Given the description of an element on the screen output the (x, y) to click on. 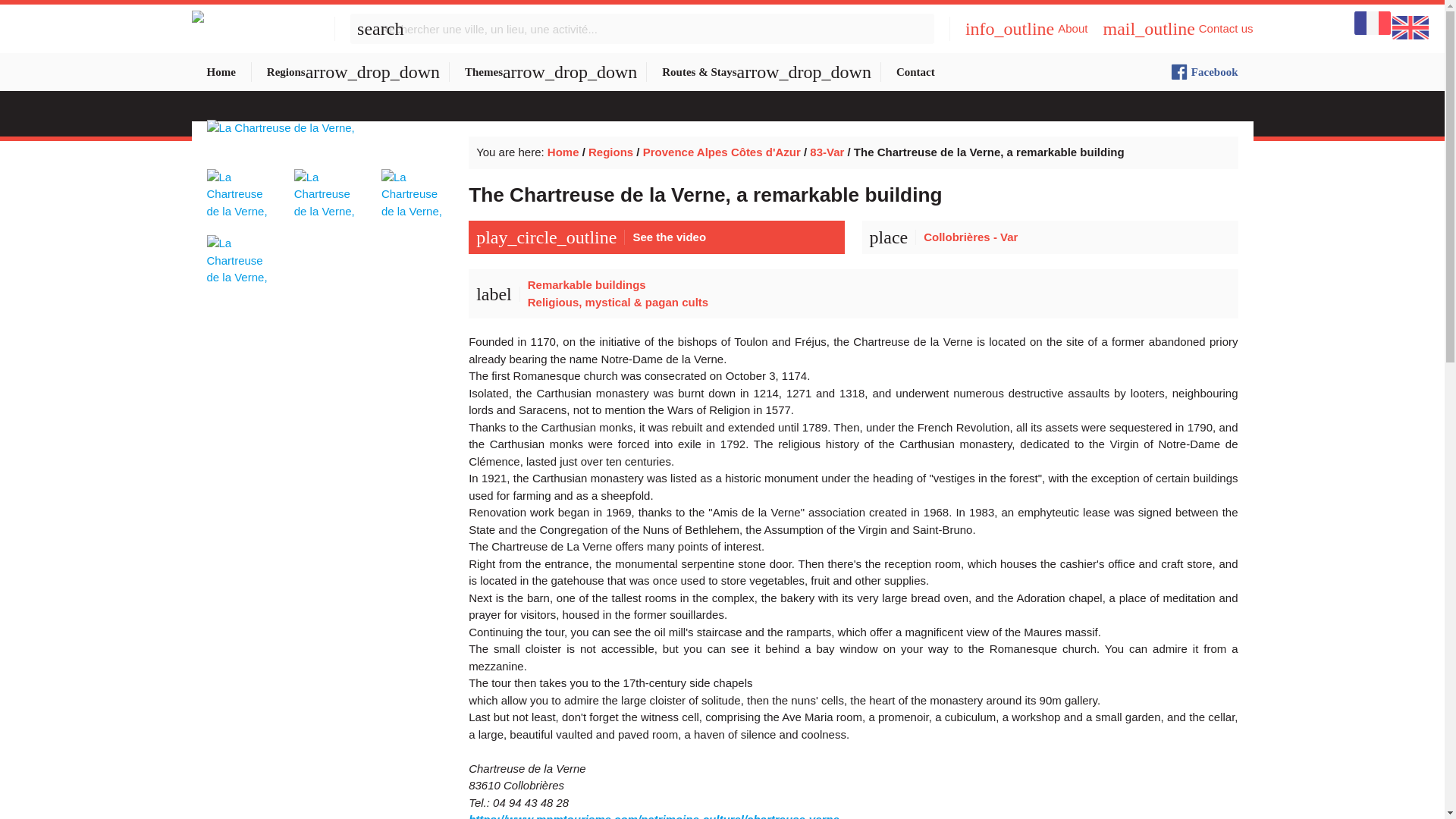
La Chartreuse de la Verne, (328, 186)
La Chartreuse de la Verne, (241, 253)
La Chartreuse de la Verne, (416, 186)
Home (220, 71)
English (1410, 27)
La Chartreuse de la Verne, (241, 186)
Facebook (1204, 71)
Contact (915, 71)
La Chartreuse de la Verne, (329, 144)
